Given the description of an element on the screen output the (x, y) to click on. 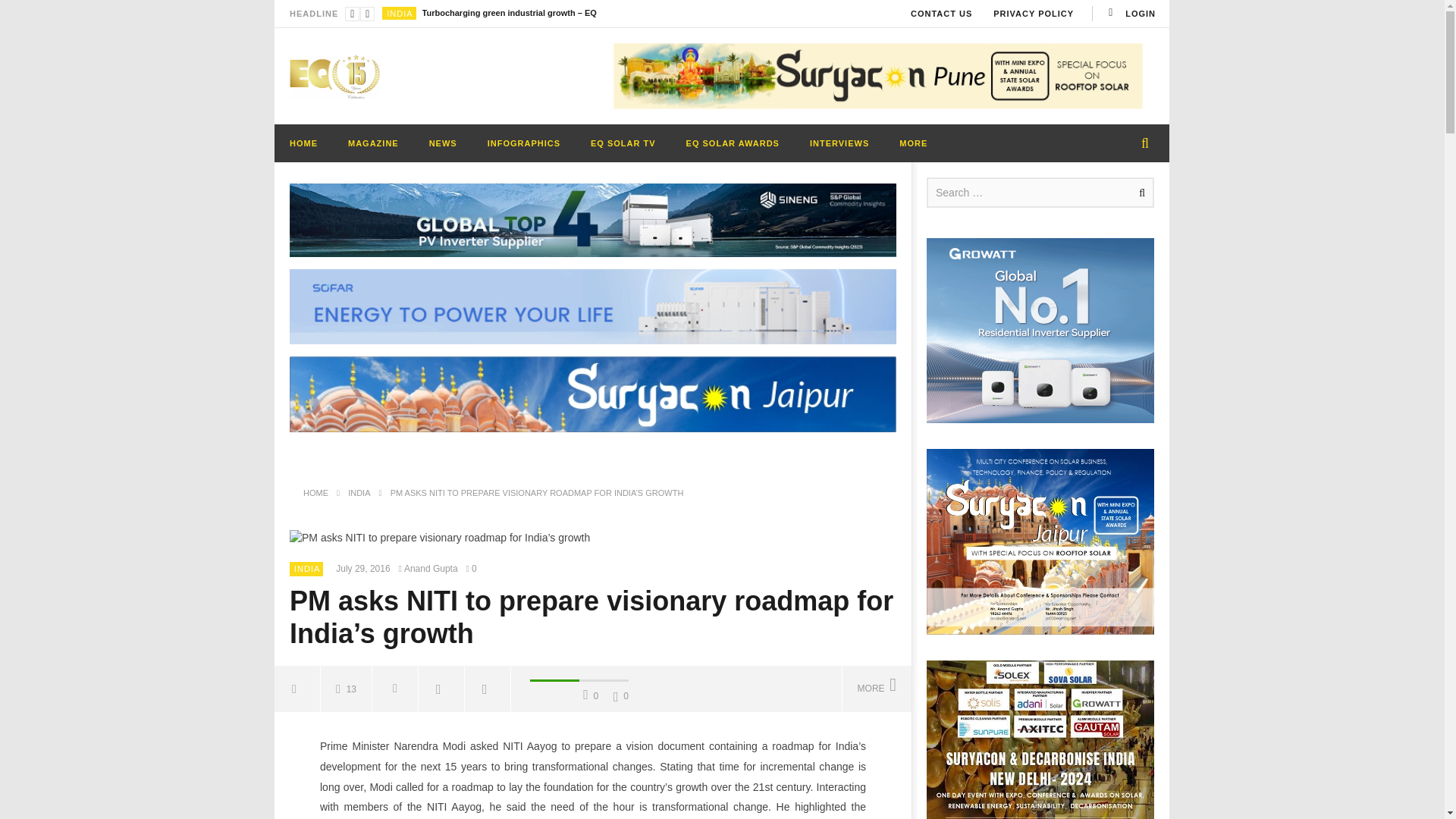
CONTACT US (940, 13)
NEWS (442, 143)
INDIA (399, 13)
PRIVACY POLICY (1033, 13)
LOGIN (1130, 13)
View all posts in India (399, 13)
Search (1139, 192)
Search (1139, 192)
MAGAZINE (373, 143)
HOME (304, 143)
The Leading Solar Magazine In India (334, 76)
